Given the description of an element on the screen output the (x, y) to click on. 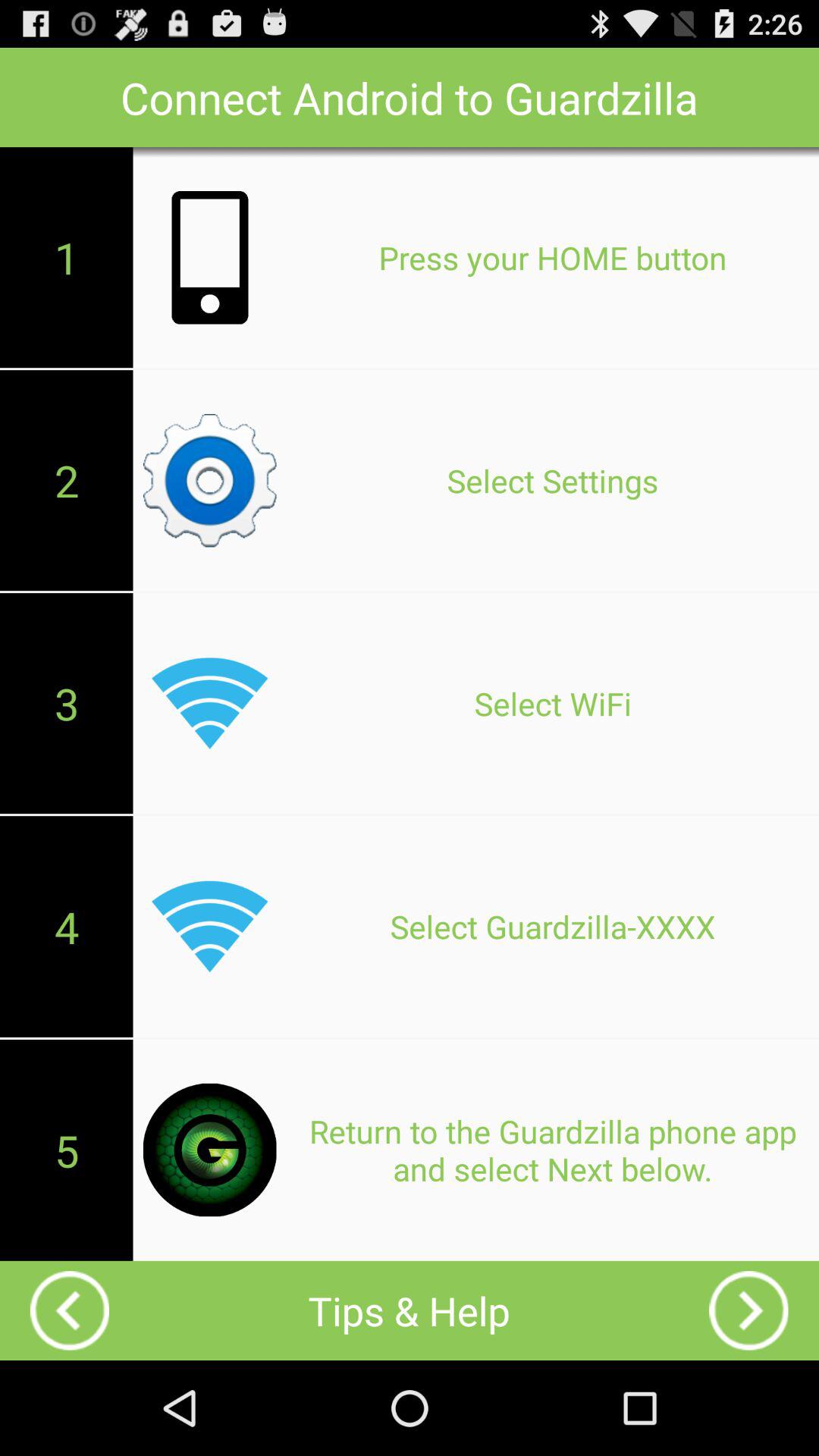
go back (748, 1310)
